Given the description of an element on the screen output the (x, y) to click on. 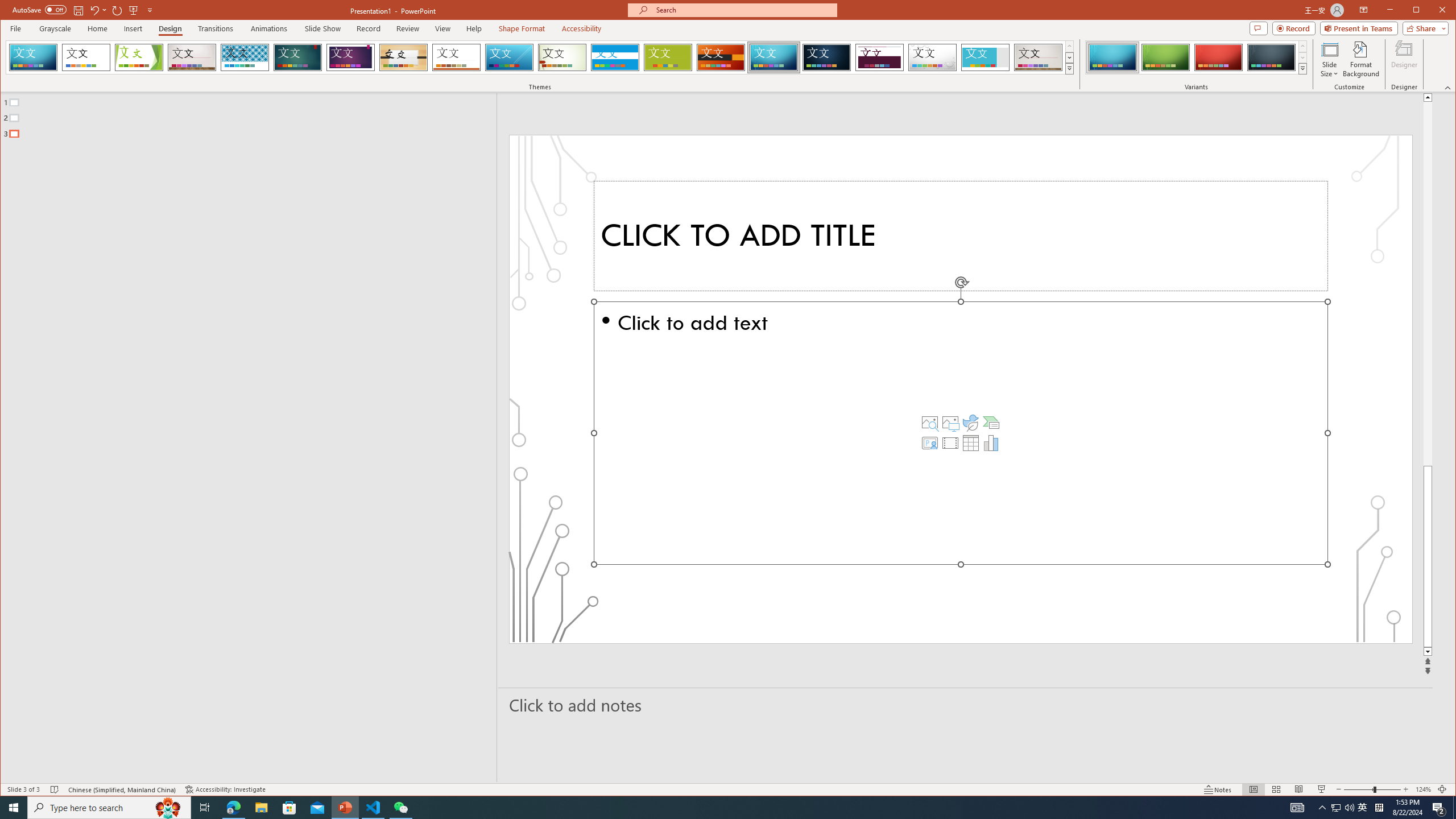
Slide Size (1328, 59)
Ion Boardroom (350, 57)
Ion (297, 57)
